Given the description of an element on the screen output the (x, y) to click on. 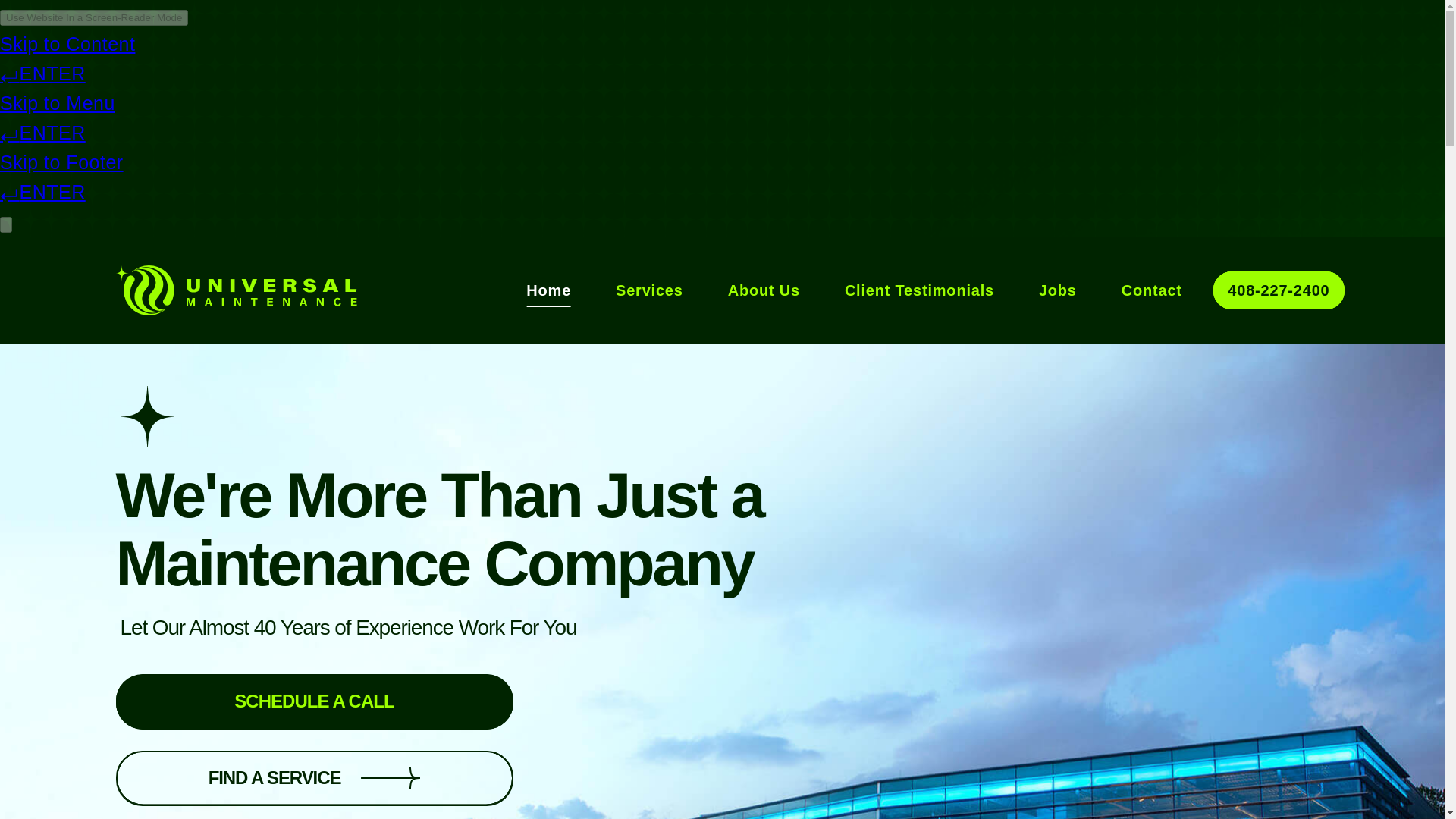
Jobs (1058, 290)
SCHEDULE A CALL (313, 701)
About Us (763, 290)
FIND A SERVICE (313, 778)
Home (547, 290)
Contact (1151, 290)
408-227-2400 (1277, 290)
Services (648, 290)
Client Testimonials (919, 290)
